Given the description of an element on the screen output the (x, y) to click on. 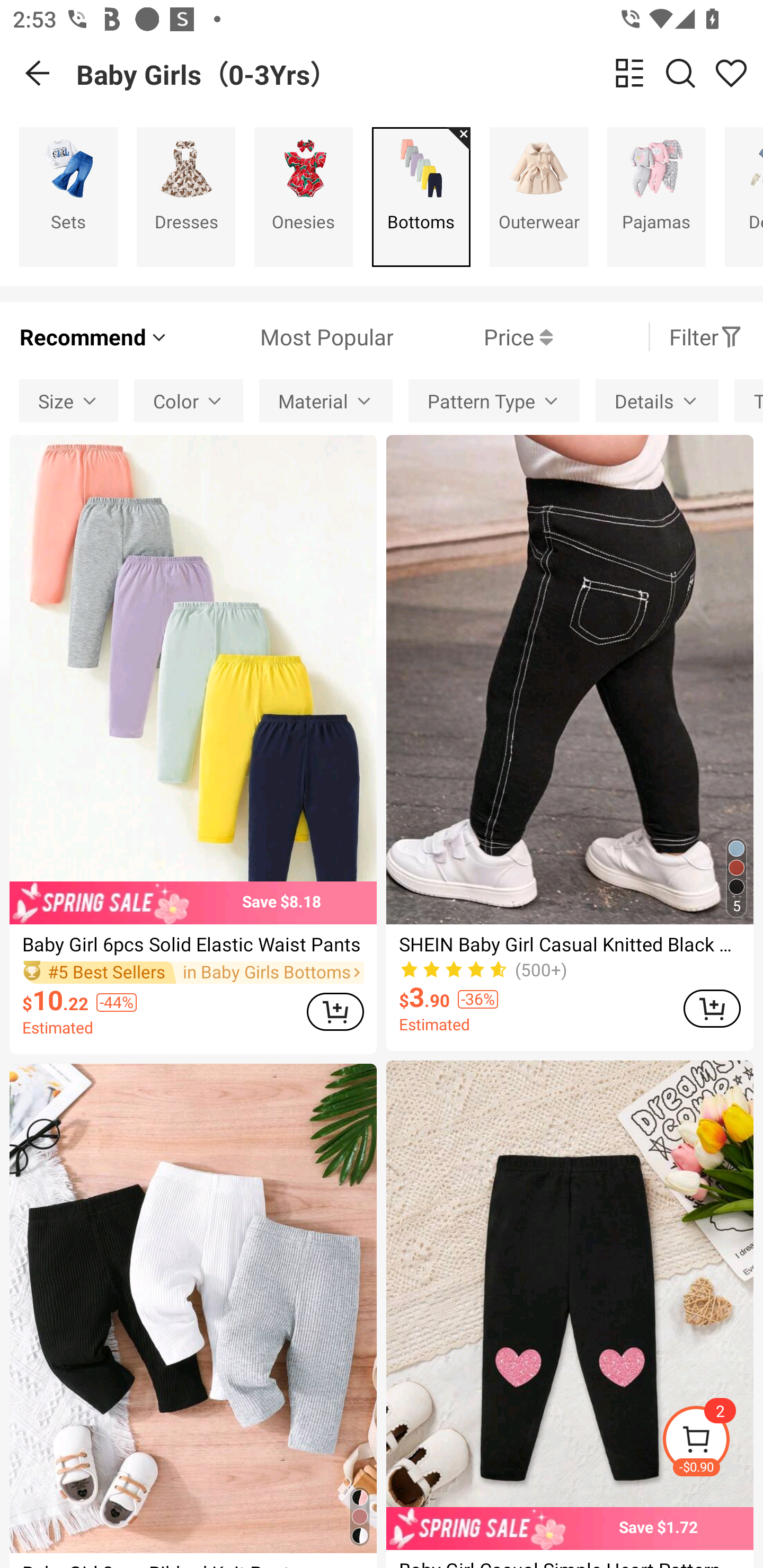
Baby Girls（0-3Yrs） change view Search Share (419, 72)
change view (629, 72)
Search (679, 72)
Share (730, 72)
Sets (68, 196)
Dresses (185, 196)
Onesies (303, 196)
Bottoms (421, 196)
Outerwear (538, 196)
Pajamas (656, 196)
Recommend (94, 336)
Most Popular (280, 336)
Price (472, 336)
Filter (705, 336)
Size (68, 400)
Color (188, 400)
Material (325, 400)
Pattern Type (493, 400)
Details (656, 400)
#5 Best Sellers in Baby Girls Bottoms (192, 971)
ADD TO CART (711, 1008)
ADD TO CART (334, 1011)
-$0.90 (712, 1441)
